Given the description of an element on the screen output the (x, y) to click on. 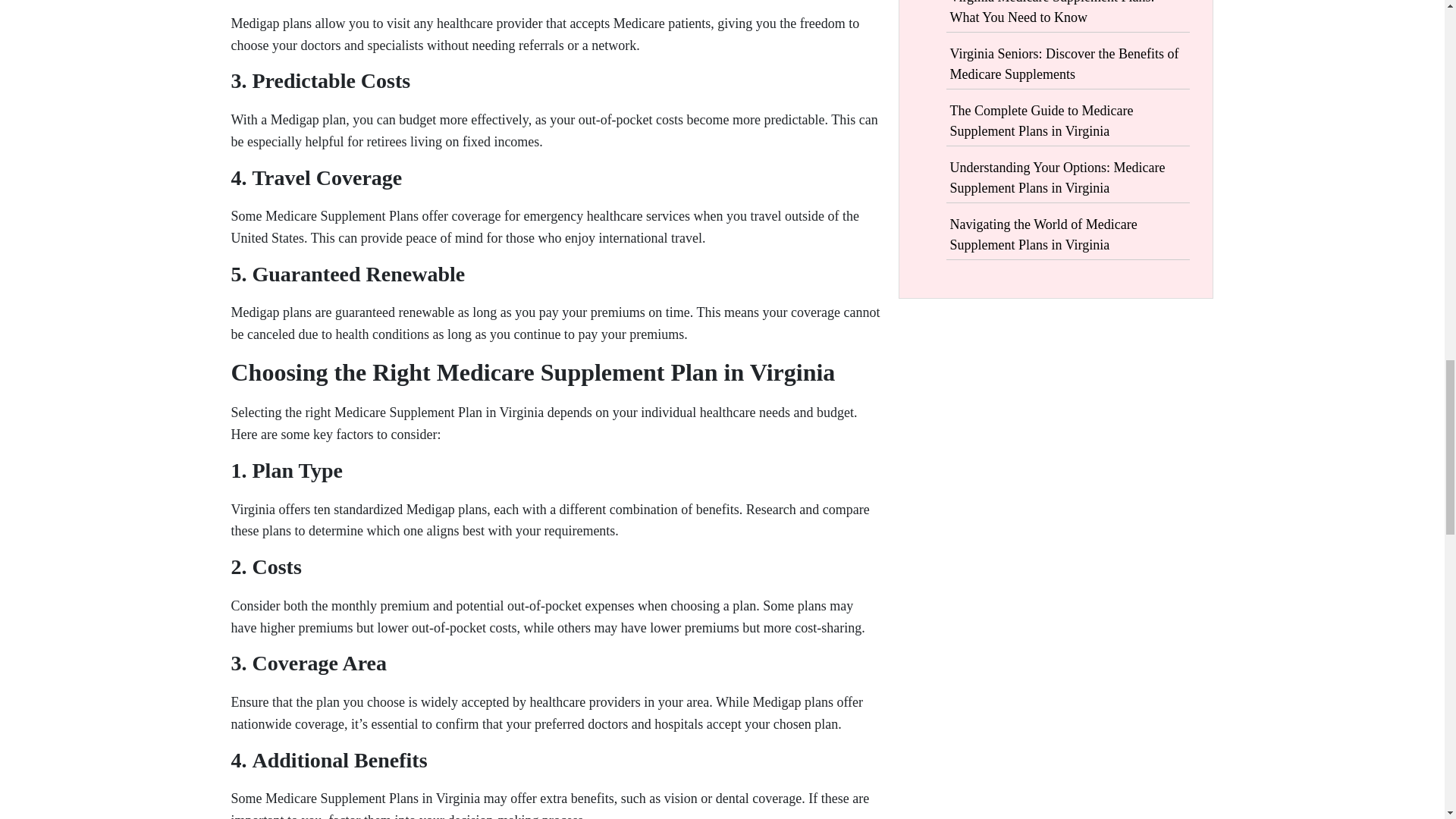
The Complete Guide to Medicare Supplement Plans in Virginia (1040, 120)
Virginia Medicare Supplement Plans: What You Need to Know (1051, 12)
